Given the description of an element on the screen output the (x, y) to click on. 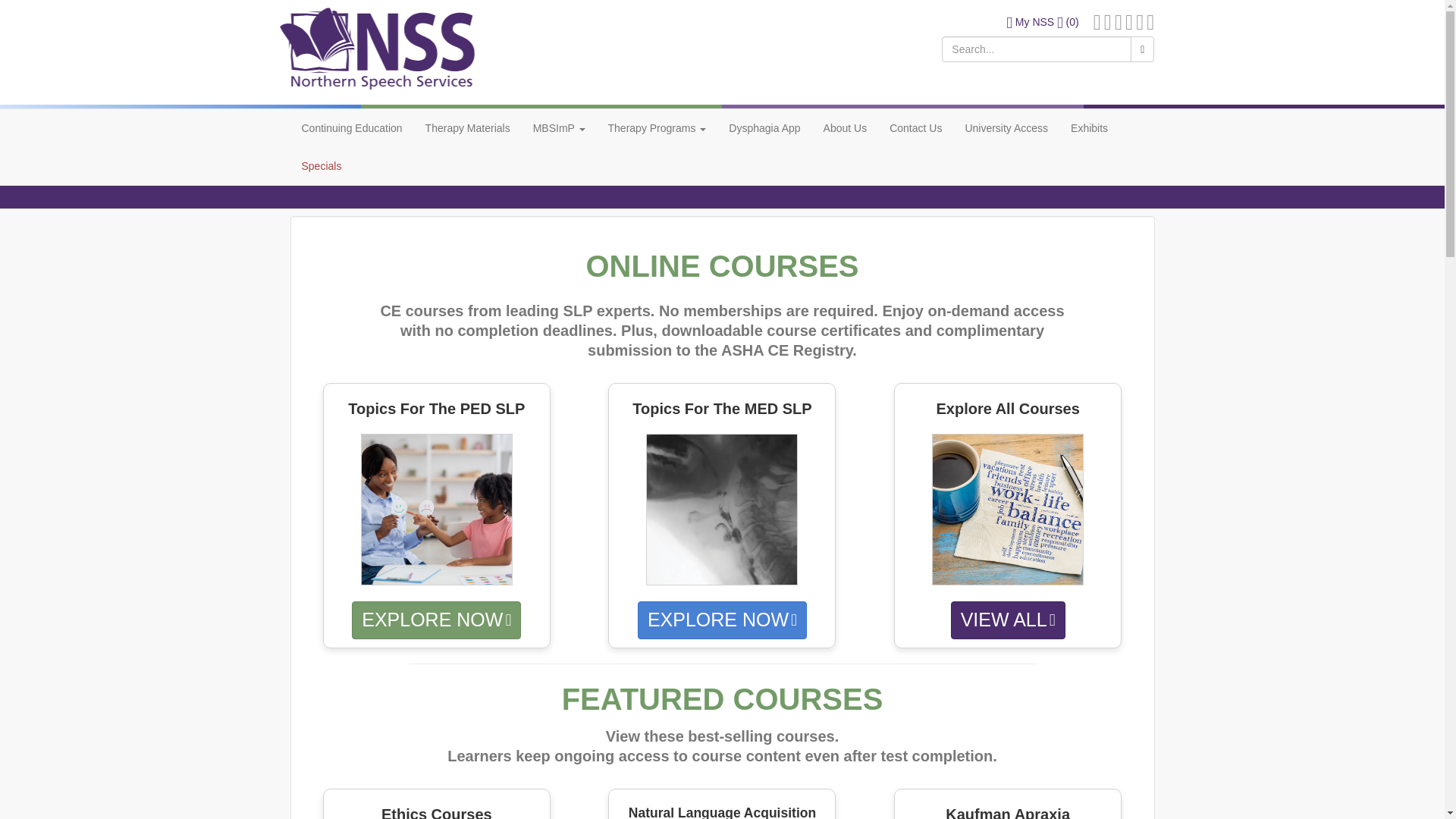
MBSImP (558, 127)
My NSS (1030, 21)
Continuing Education (351, 127)
Therapy Programs (656, 127)
Ped SLPs (436, 508)
All Courses (1007, 508)
Therapy Materials (467, 127)
Med SLPs (721, 508)
